Given the description of an element on the screen output the (x, y) to click on. 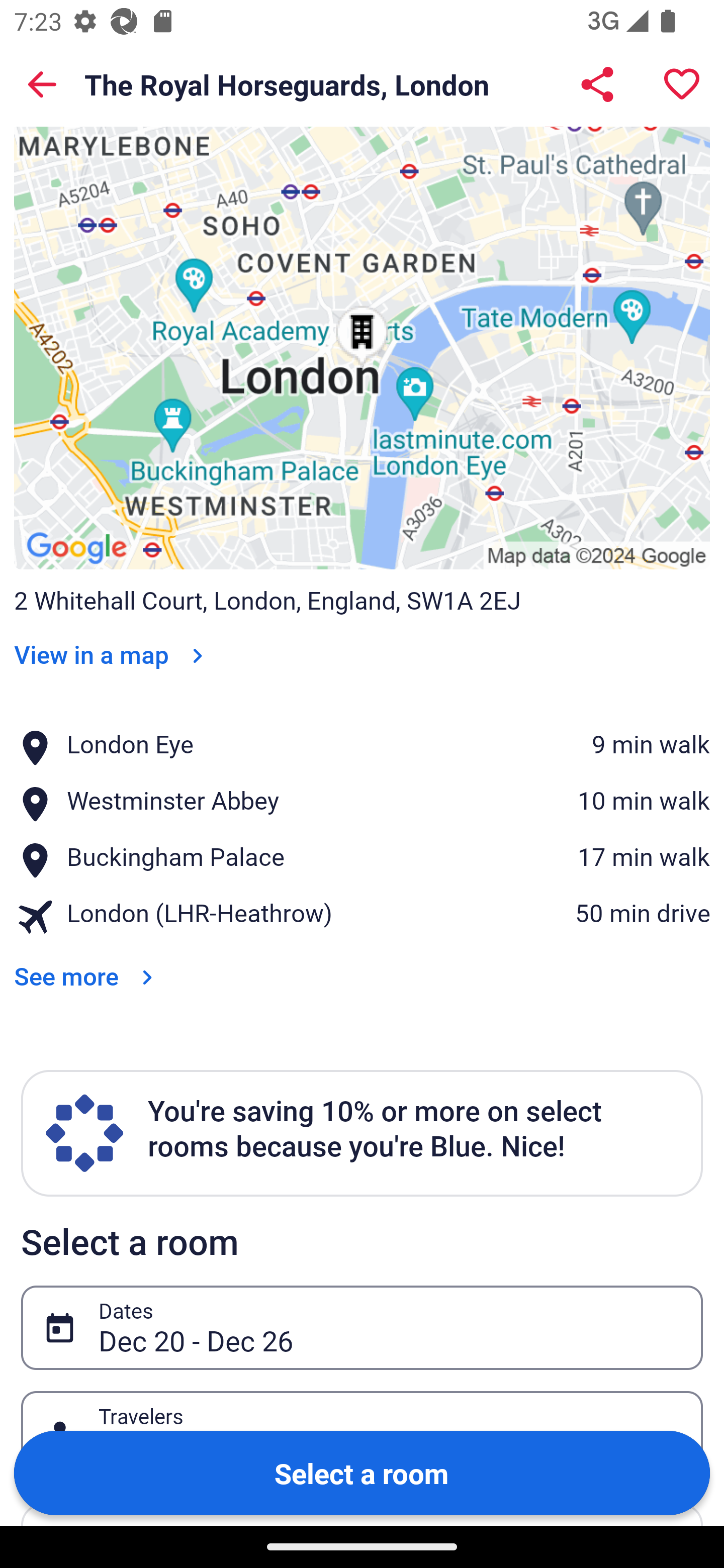
Back (42, 84)
Save property to a trip (681, 84)
Share The Royal Horseguards, London (597, 84)
See more (86, 963)
Dec 20 - Dec 26 Dates (361, 1327)
Dec 20 - Dec 26 (390, 1327)
Select a room Button Select a room (361, 1472)
